Given the description of an element on the screen output the (x, y) to click on. 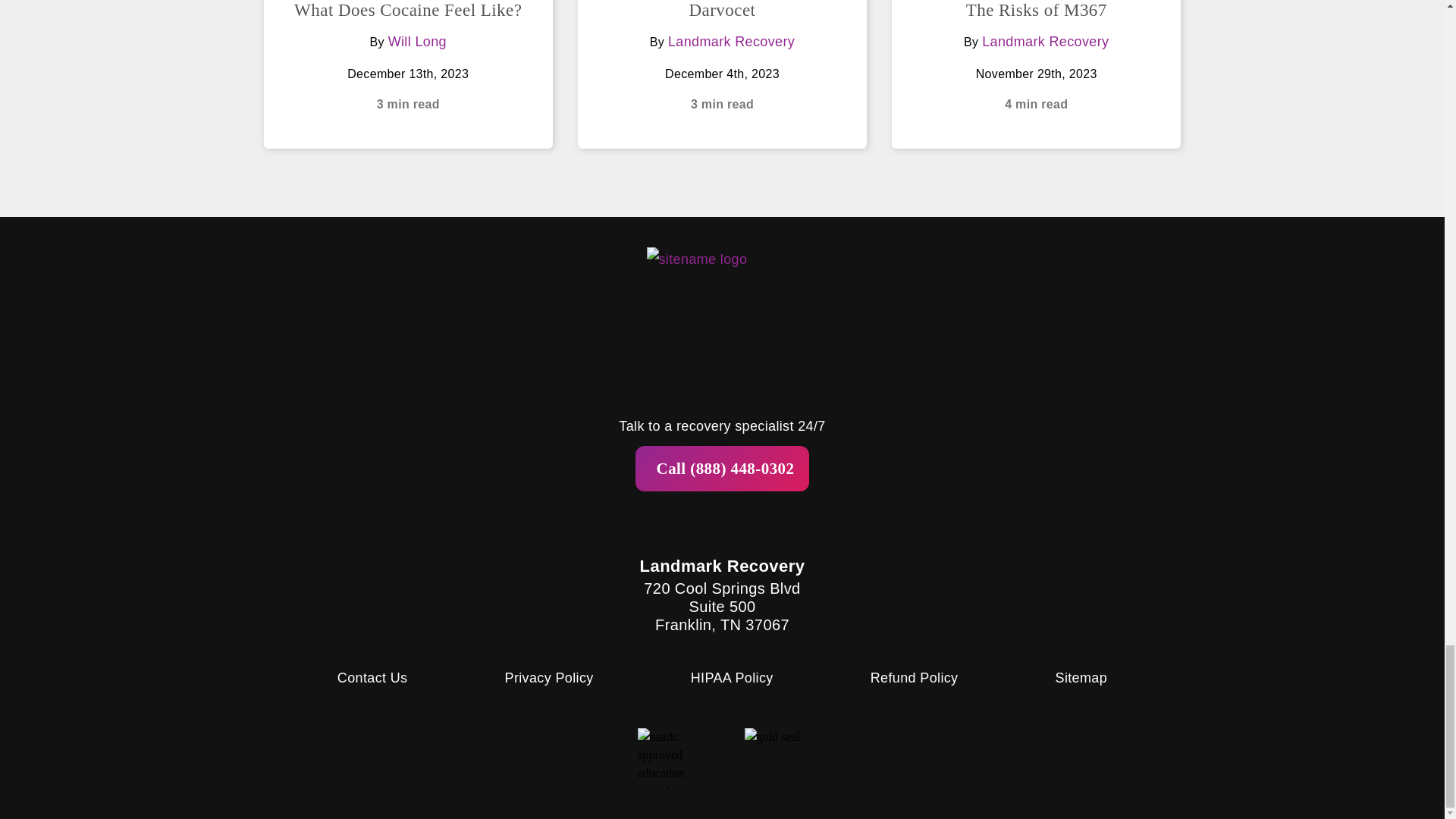
Permanent Link to The Risks of M367 (1036, 9)
Landmark Recovery (1044, 41)
Landmark Recovery (731, 41)
Will Long (417, 41)
Permanent Link to What Does Cocaine Feel Like? (407, 9)
Permanent Link to Darvocet (721, 9)
